Given the description of an element on the screen output the (x, y) to click on. 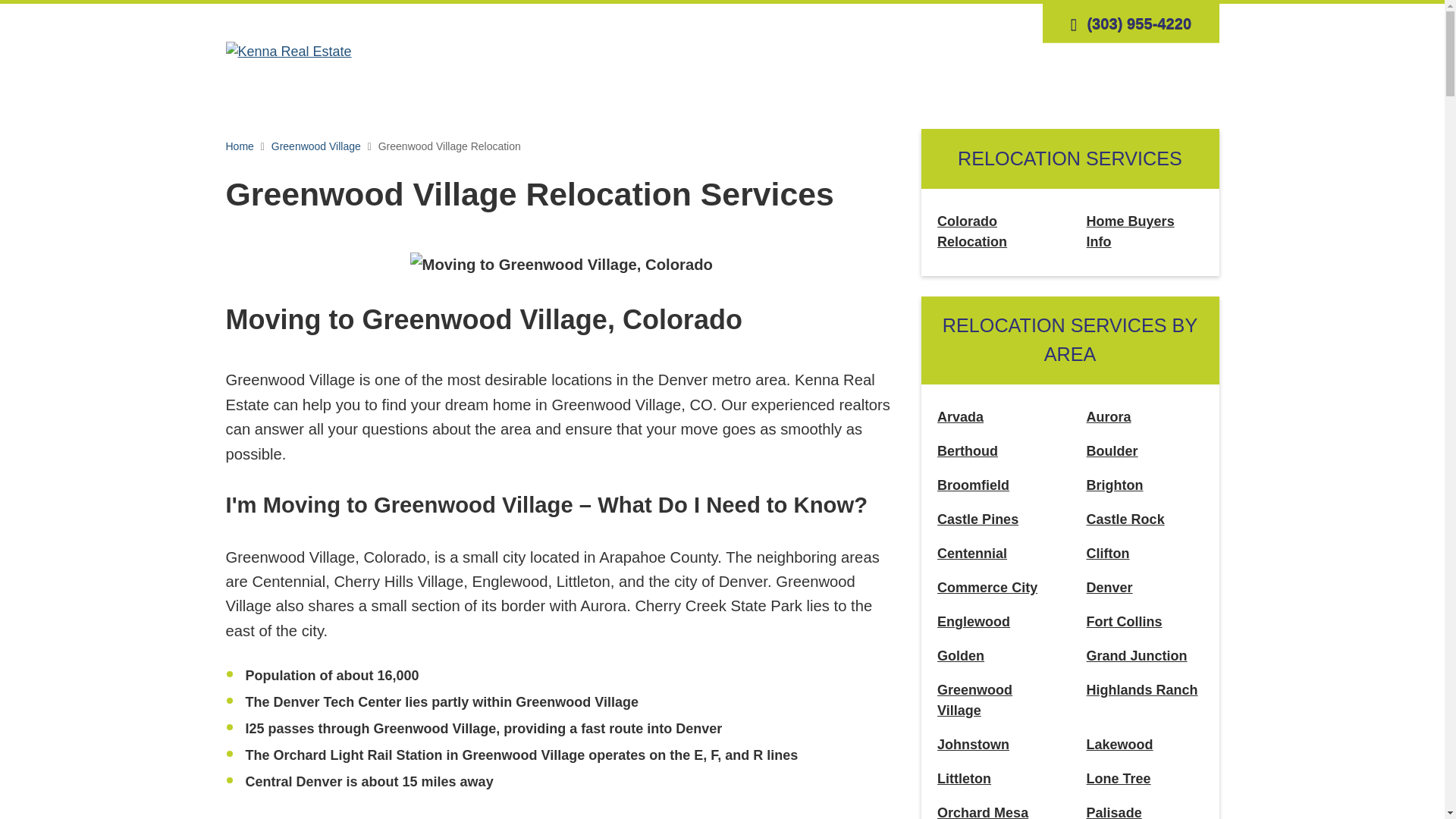
Register (925, 23)
Login (876, 23)
Home Page (288, 50)
Moving to Greenwood Village, Colorado (561, 264)
Select Language (1010, 23)
